Given the description of an element on the screen output the (x, y) to click on. 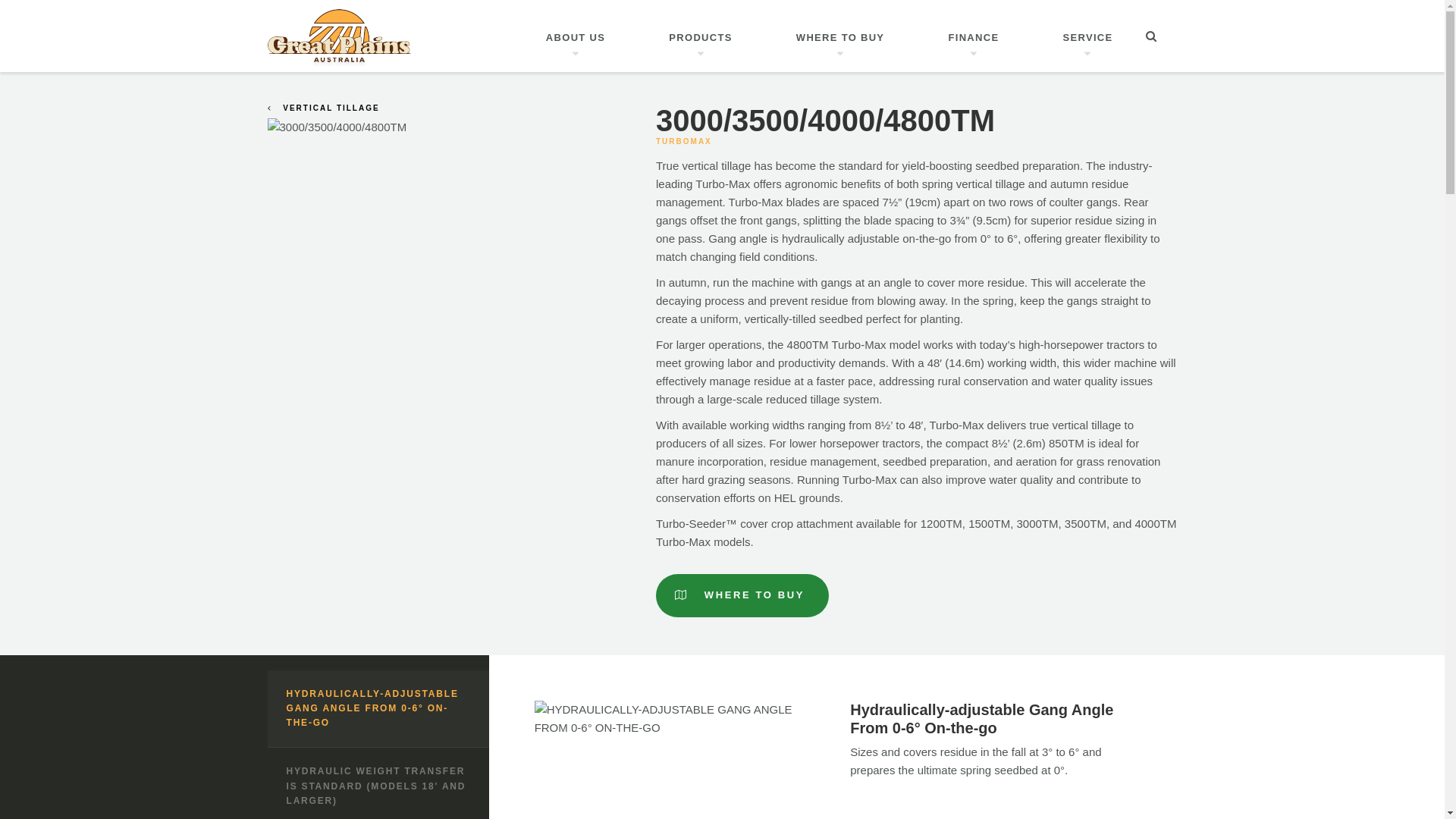
Great Plains Australia Element type: text (338, 37)
ABOUT US Element type: text (575, 36)
PRODUCTS Element type: text (700, 36)
SERVICE Element type: text (1087, 36)
FINANCE Element type: text (973, 36)
WHERE TO BUY Element type: text (839, 36)
VERTICAL TILLAGE Element type: text (322, 108)
WHERE TO BUY Element type: text (741, 595)
